Given the description of an element on the screen output the (x, y) to click on. 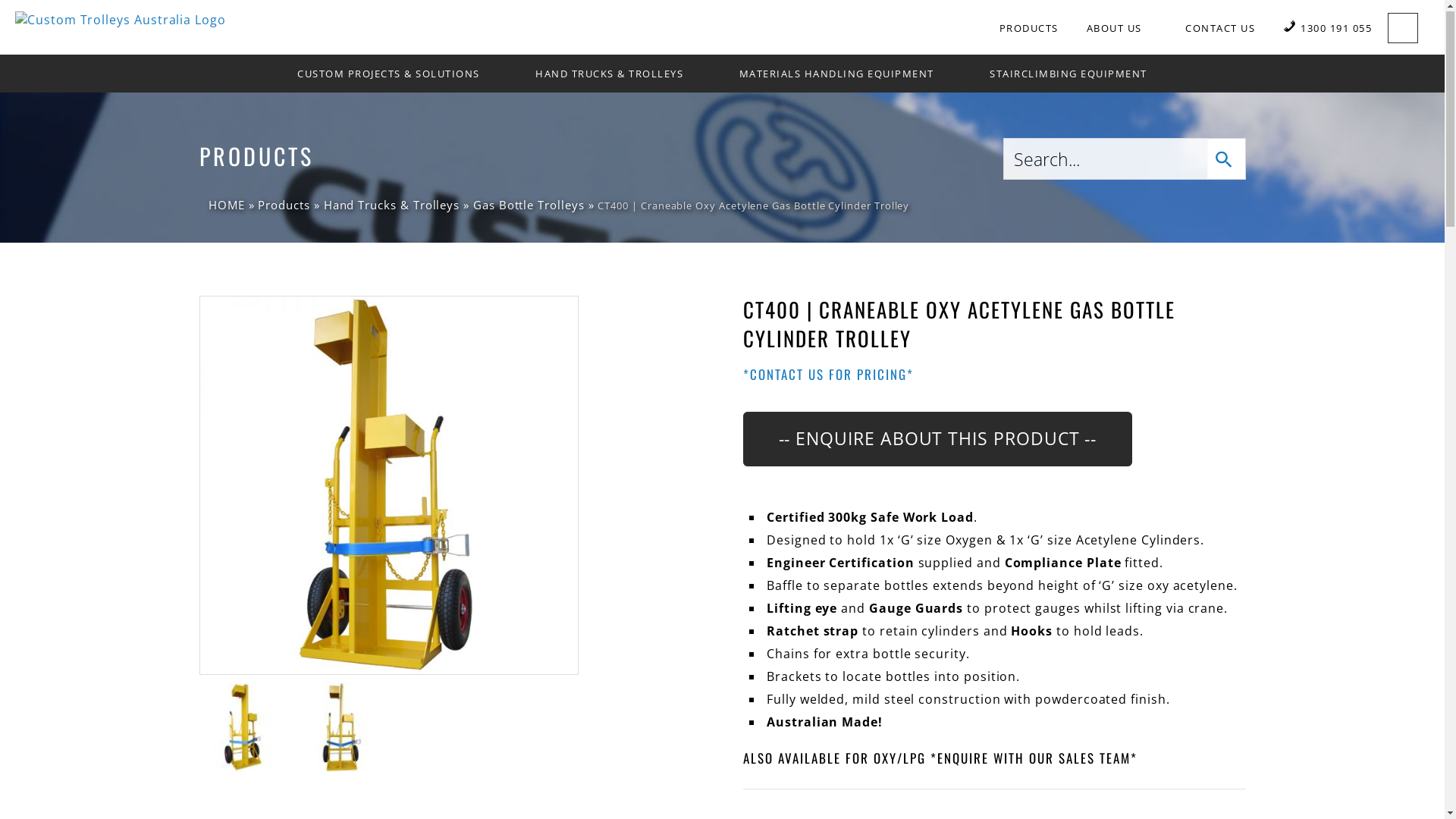
CT400 | Craneable Oxy Acetylene Gas Bottle Cylinder Trolley Element type: hover (340, 728)
CUSTOM PROJECTS & SOLUTIONS Element type: text (395, 75)
PRODUCTS Element type: text (1028, 29)
MATERIALS HANDLING EQUIPMENT Element type: text (844, 75)
-- ENQUIRE ABOUT THIS PRODUCT -- Element type: text (937, 440)
HOME Element type: text (221, 205)
HAND TRUCKS & TROLLEYS Element type: text (616, 75)
Gas Bottle Trolleys Element type: text (528, 205)
Custom Trolleys Australia Element type: hover (120, 19)
CT400 | Craneable Oxy Acetylene Gas Bottle Cylinder Trolley Element type: hover (243, 728)
ABOUT US Element type: text (1122, 29)
STAIRCLIMBING EQUIPMENT Element type: text (1068, 75)
Hand Trucks & Trolleys Element type: text (391, 205)
1300 191 055 Element type: text (1327, 29)
Products Element type: text (283, 205)
CT400 | Craneable Oxy Acetylene Gas Bottle Cylinder Trolley Element type: hover (387, 486)
CONTACT US Element type: text (1219, 29)
